Given the description of an element on the screen output the (x, y) to click on. 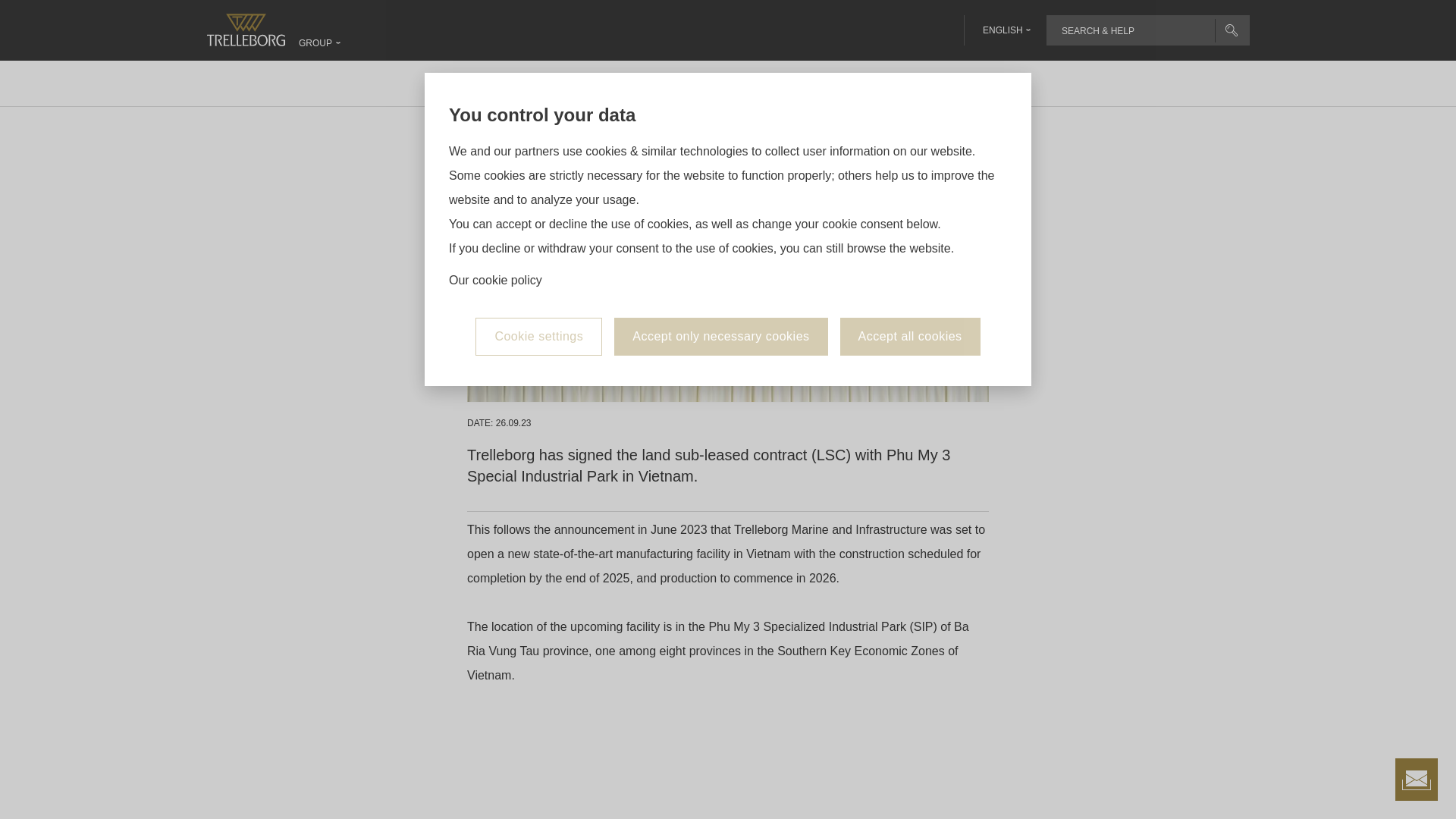
Cookie settings (539, 230)
Accept only necessary cookies (720, 230)
Our cookie policy (494, 174)
Accept all cookies (909, 230)
